Given the description of an element on the screen output the (x, y) to click on. 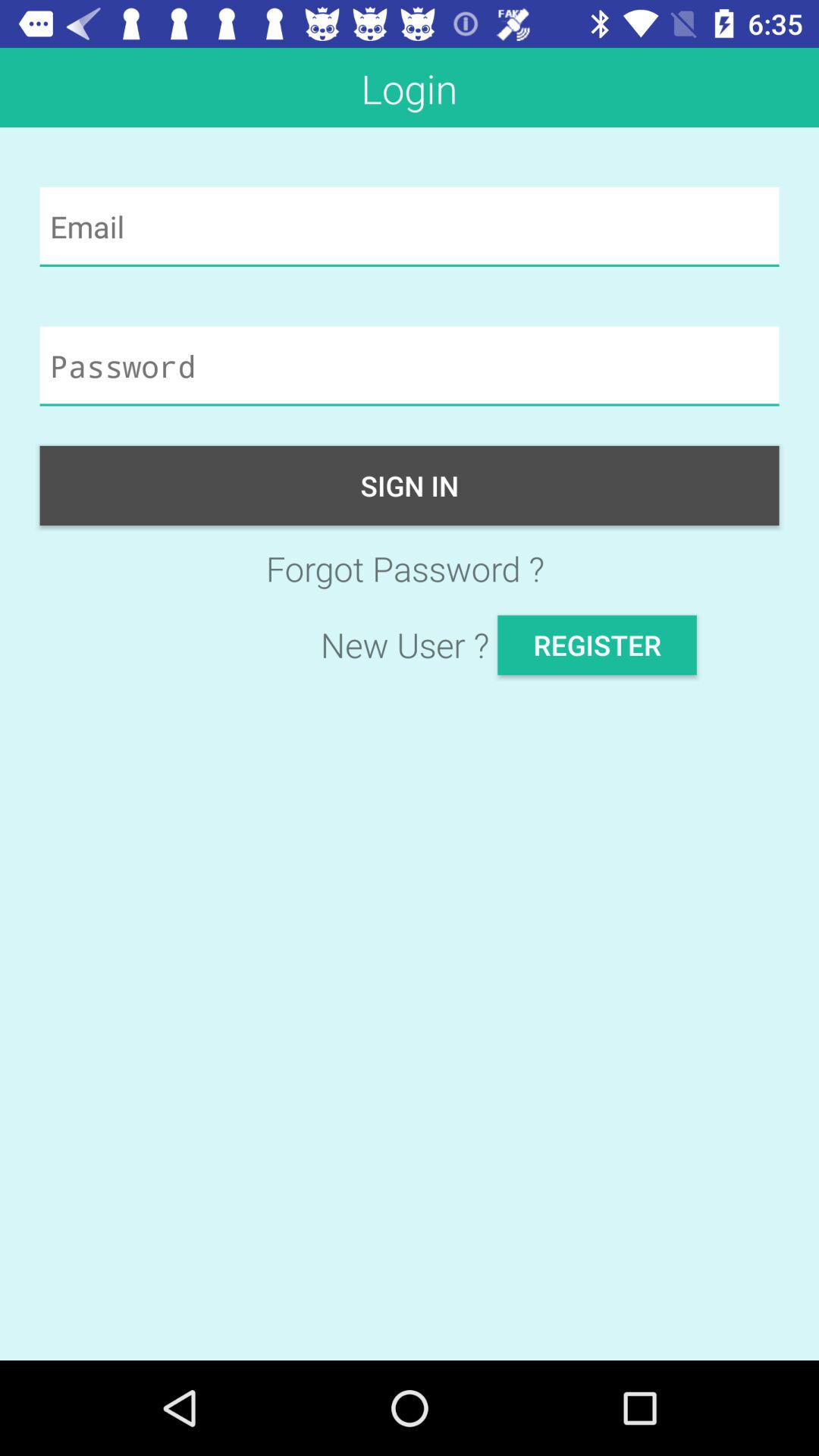
flip until sign in icon (409, 485)
